Given the description of an element on the screen output the (x, y) to click on. 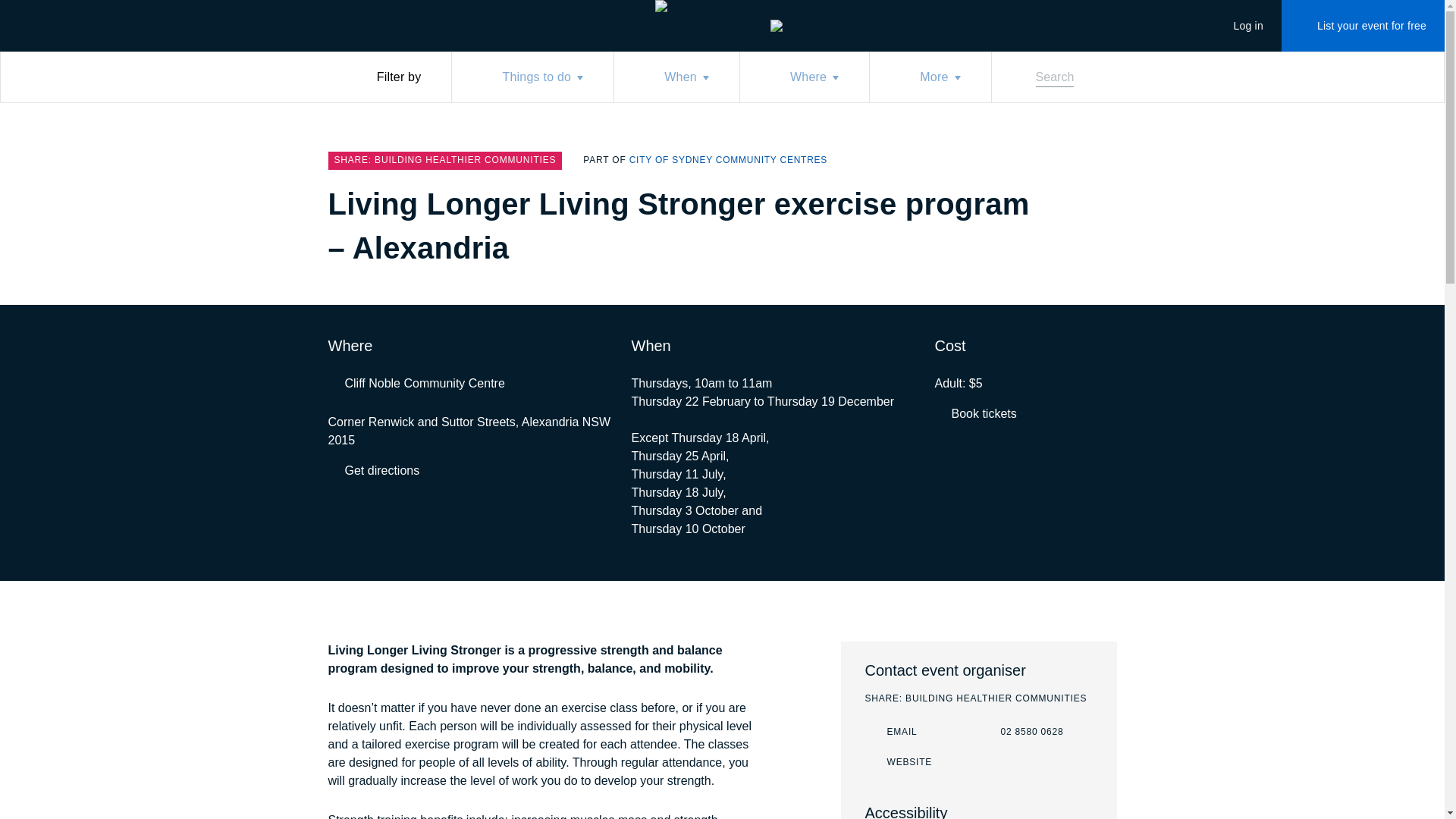
Search (1045, 77)
When (676, 77)
When (1020, 732)
Cliff Noble Community Centre (373, 470)
Share on Facebook (676, 77)
Share on Twitter (415, 383)
CITY OF SYDNEY COMMUNITY CENTRES (1045, 206)
Things to do (890, 732)
More (1239, 25)
Share on Facebook (1076, 206)
More (727, 160)
